Given the description of an element on the screen output the (x, y) to click on. 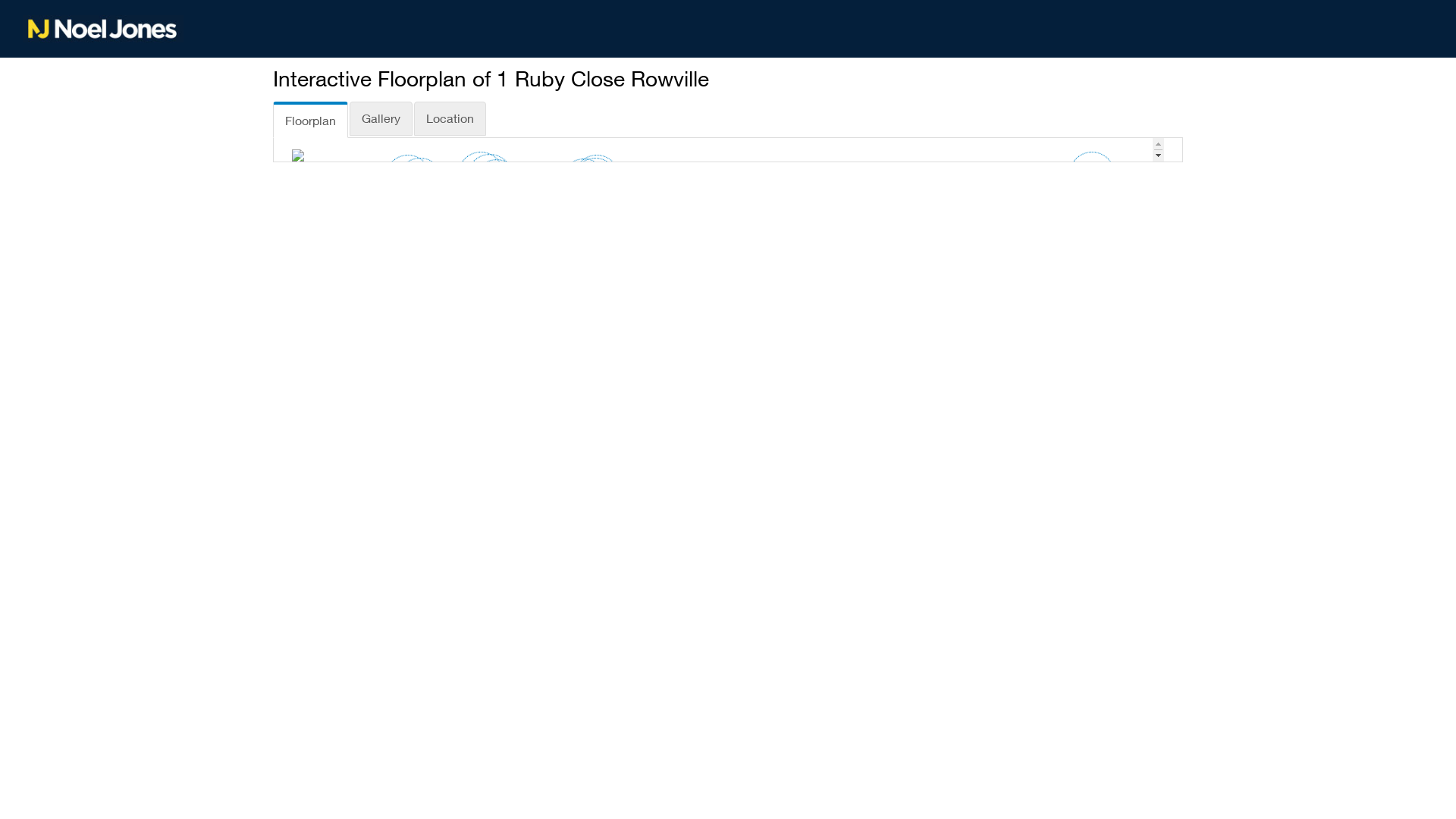
Location Element type: text (450, 118)
Floorplan Element type: text (310, 119)
Gallery Element type: text (380, 118)
